Given the description of an element on the screen output the (x, y) to click on. 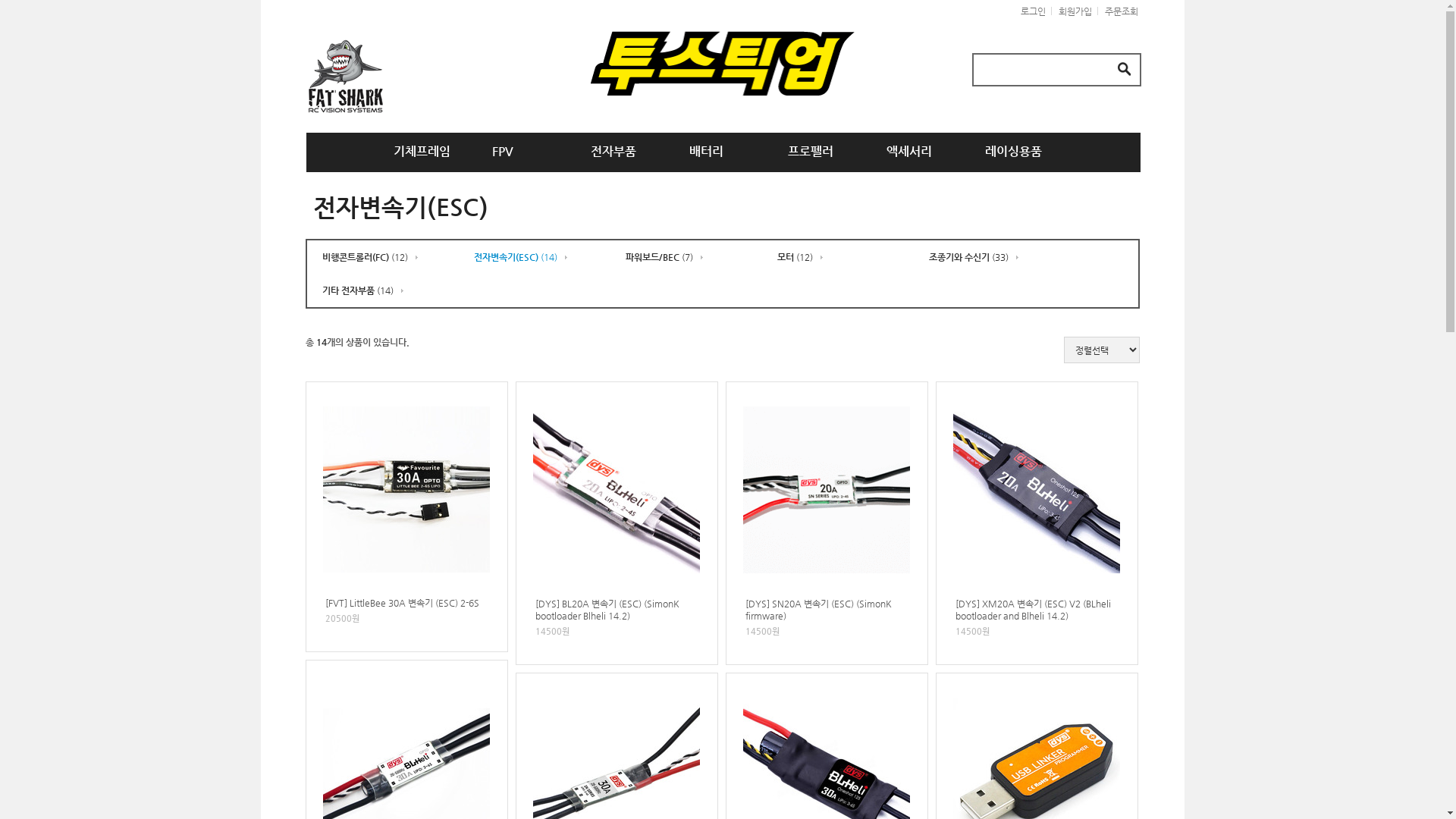
FPV Element type: text (496, 151)
